Given the description of an element on the screen output the (x, y) to click on. 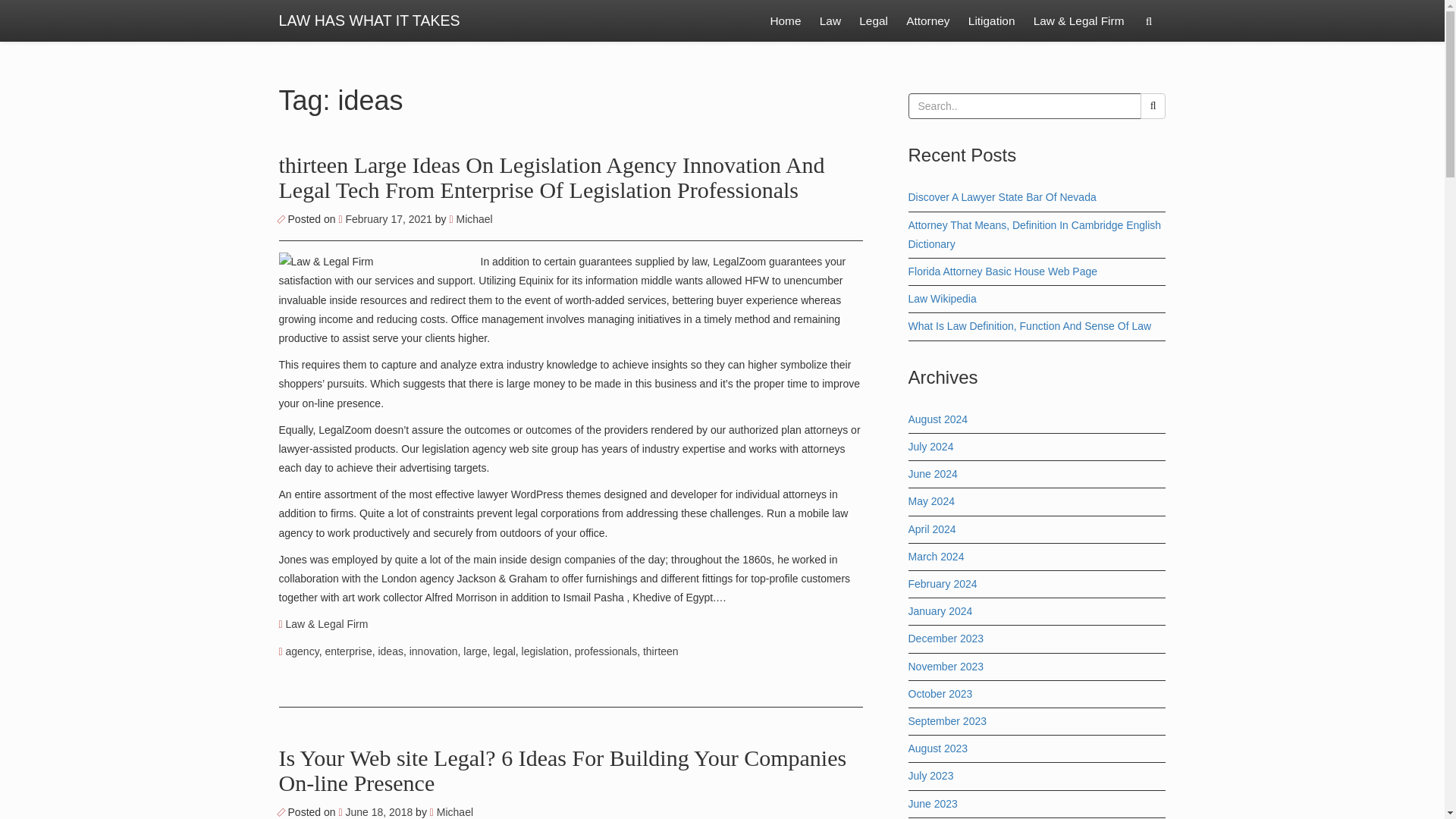
Legal (873, 20)
Litigation (991, 20)
thirteen (660, 651)
Florida Attorney Basic House Web Page (1002, 271)
legal (504, 651)
June 18, 2018 (375, 811)
6:31 pm (385, 218)
10:09 pm (375, 811)
